Given the description of an element on the screen output the (x, y) to click on. 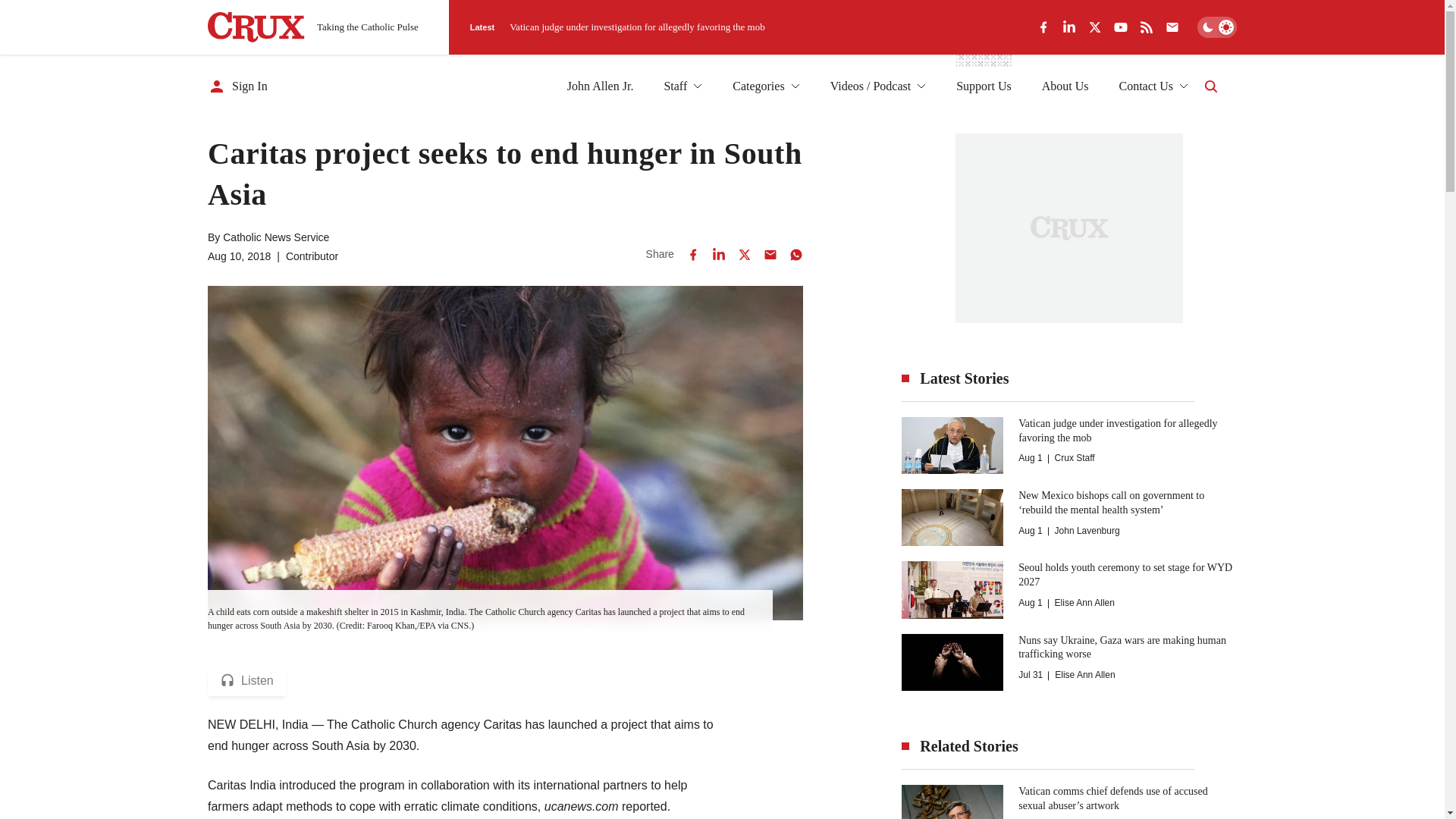
Staff (682, 85)
About Us (1065, 85)
John Allen Jr. (600, 85)
Sign In (237, 85)
Contact Us (1153, 85)
Support Us (983, 85)
Categories (765, 85)
